Given the description of an element on the screen output the (x, y) to click on. 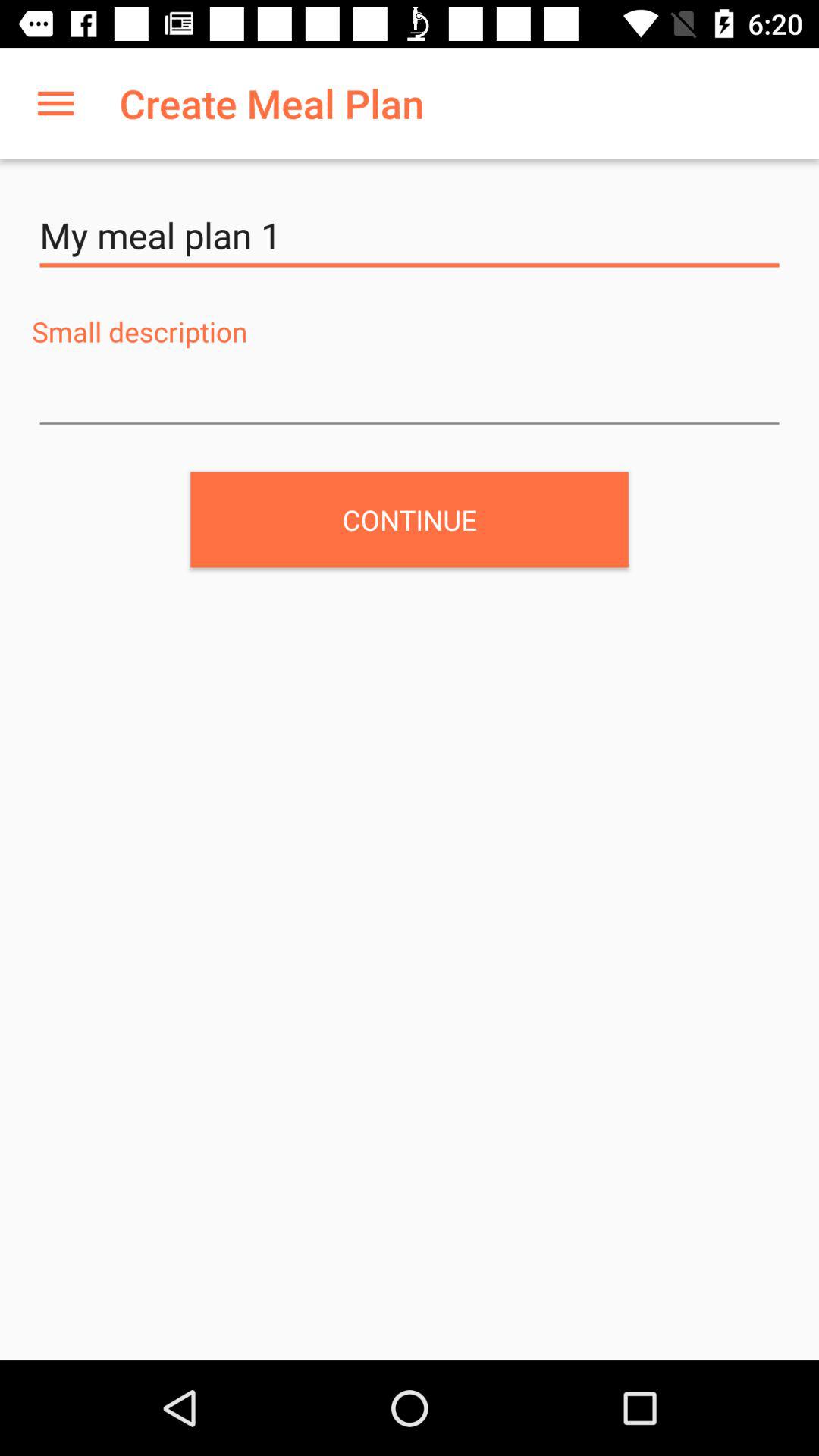
launch item above my meal plan item (55, 103)
